Given the description of an element on the screen output the (x, y) to click on. 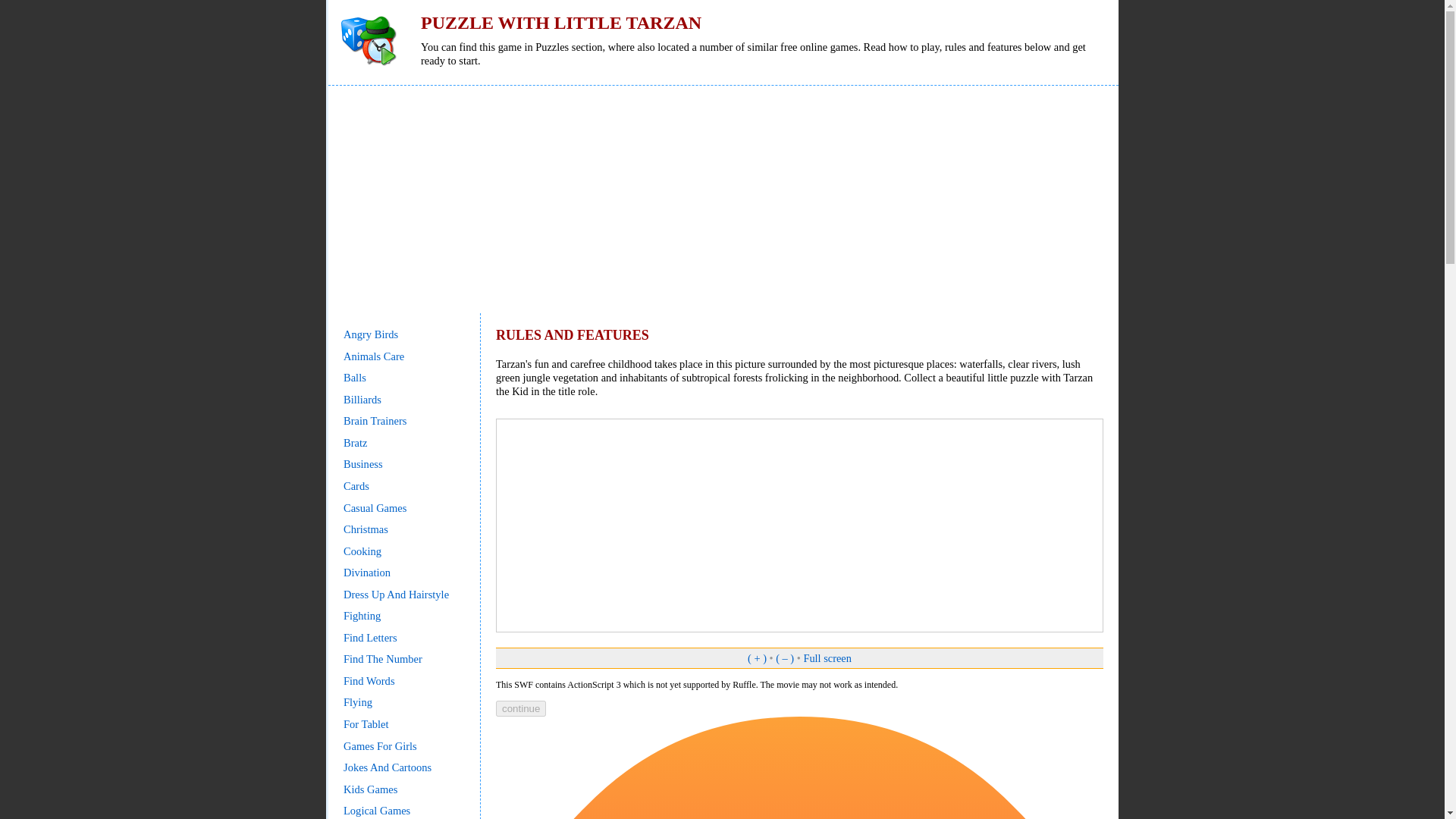
Fighting (361, 615)
Find The Number (382, 658)
Increase size (757, 657)
Animals Care (373, 356)
Flying (357, 702)
Billiards (362, 399)
Divination (366, 572)
Cards (356, 485)
Cooking (362, 551)
Dress Up And Hairstyle (395, 594)
